Given the description of an element on the screen output the (x, y) to click on. 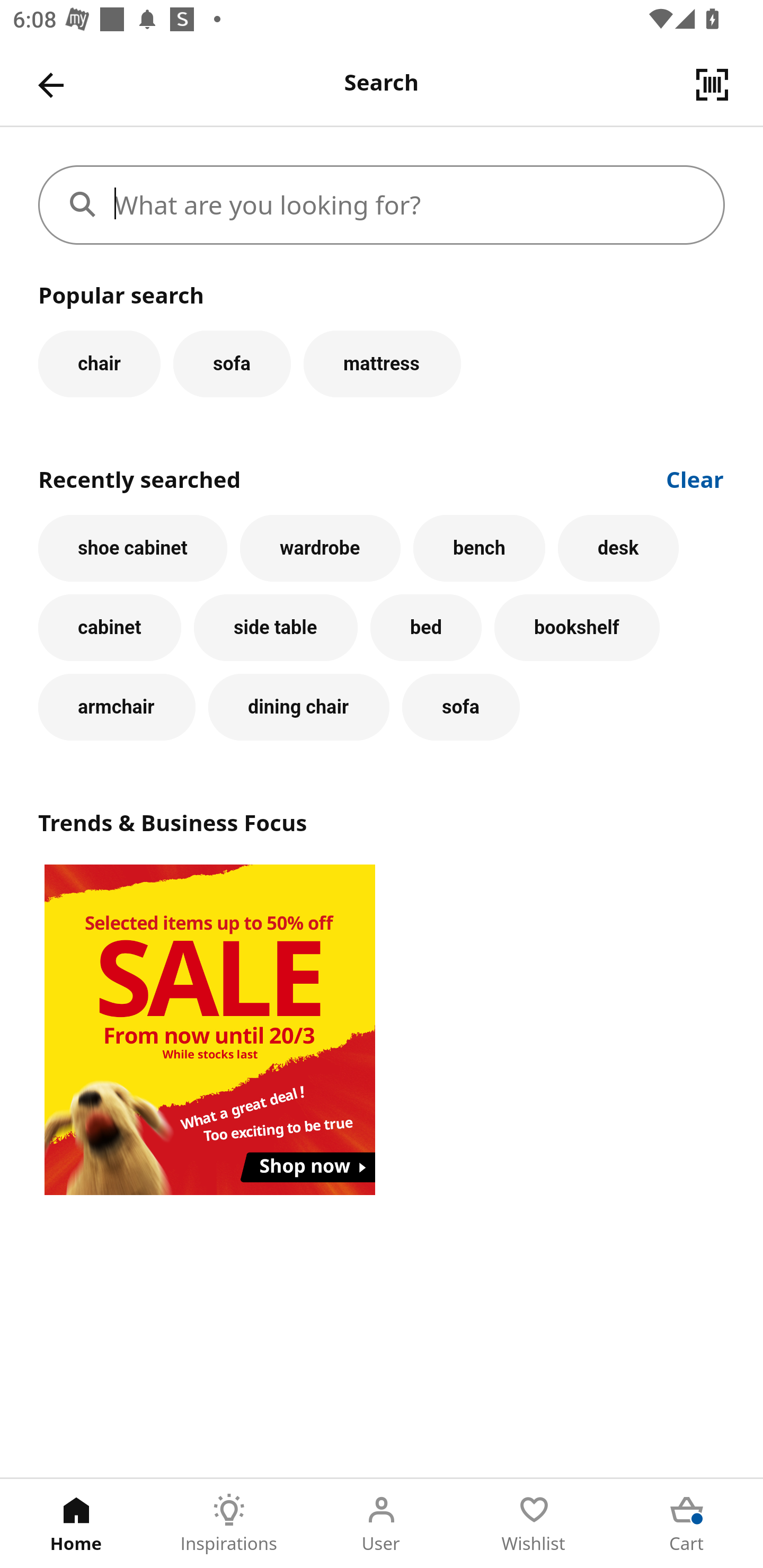
chair (99, 363)
sofa (231, 363)
mattress (381, 363)
Clear (695, 477)
shoe cabinet (132, 547)
wardrobe (320, 547)
bench (479, 547)
desk (618, 547)
cabinet (109, 627)
side table (275, 627)
bed (425, 627)
bookshelf (576, 627)
armchair (116, 707)
dining chair (298, 707)
sofa (460, 707)
Home
Tab 1 of 5 (76, 1522)
Inspirations
Tab 2 of 5 (228, 1522)
User
Tab 3 of 5 (381, 1522)
Wishlist
Tab 4 of 5 (533, 1522)
Cart
Tab 5 of 5 (686, 1522)
